Given the description of an element on the screen output the (x, y) to click on. 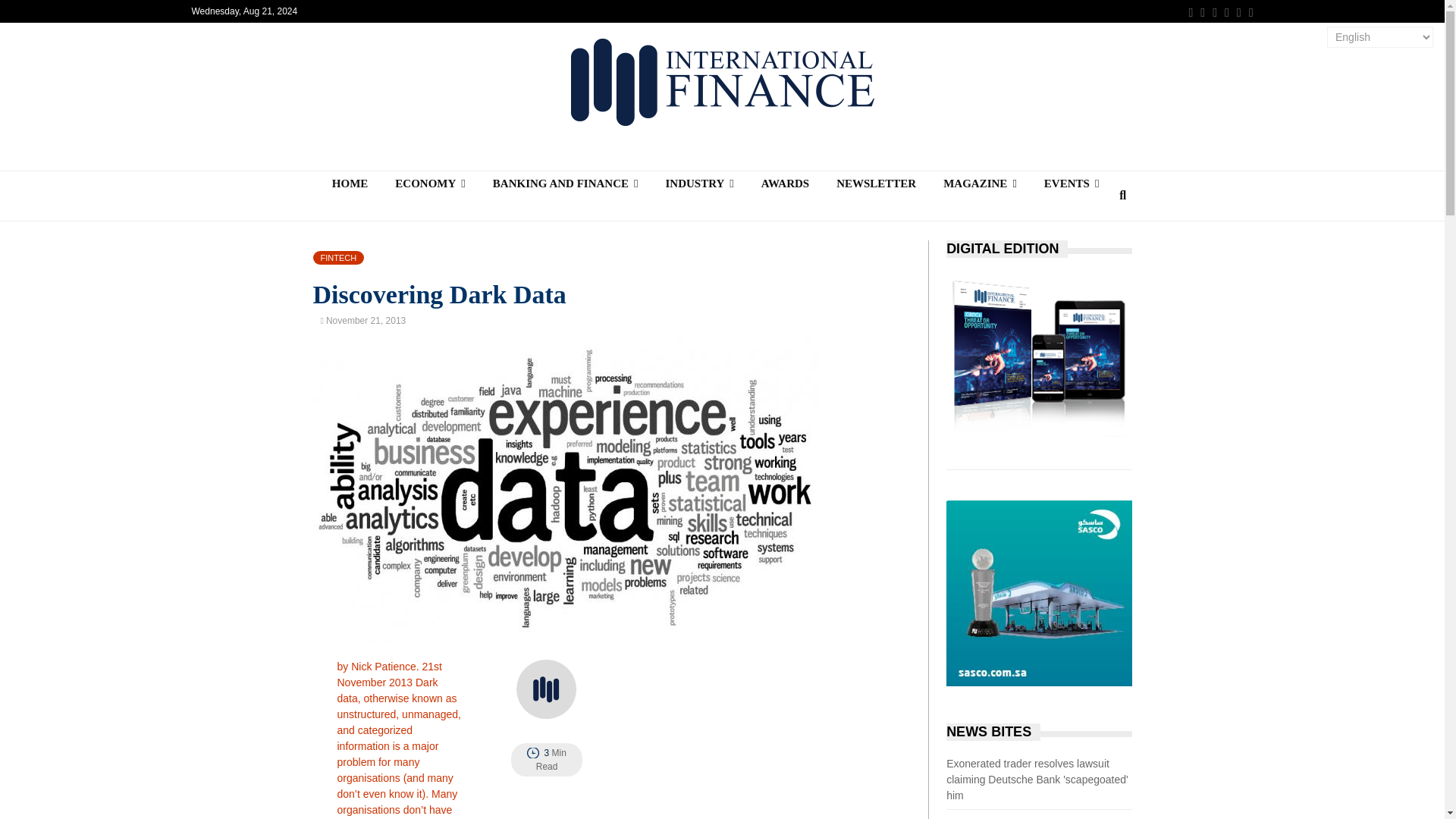
HOME (349, 183)
NEWSLETTER (876, 183)
ECONOMY (430, 183)
BANKING AND FINANCE (565, 183)
AWARDS (785, 183)
MAGAZINE (980, 183)
INDUSTRY (698, 183)
